Given the description of an element on the screen output the (x, y) to click on. 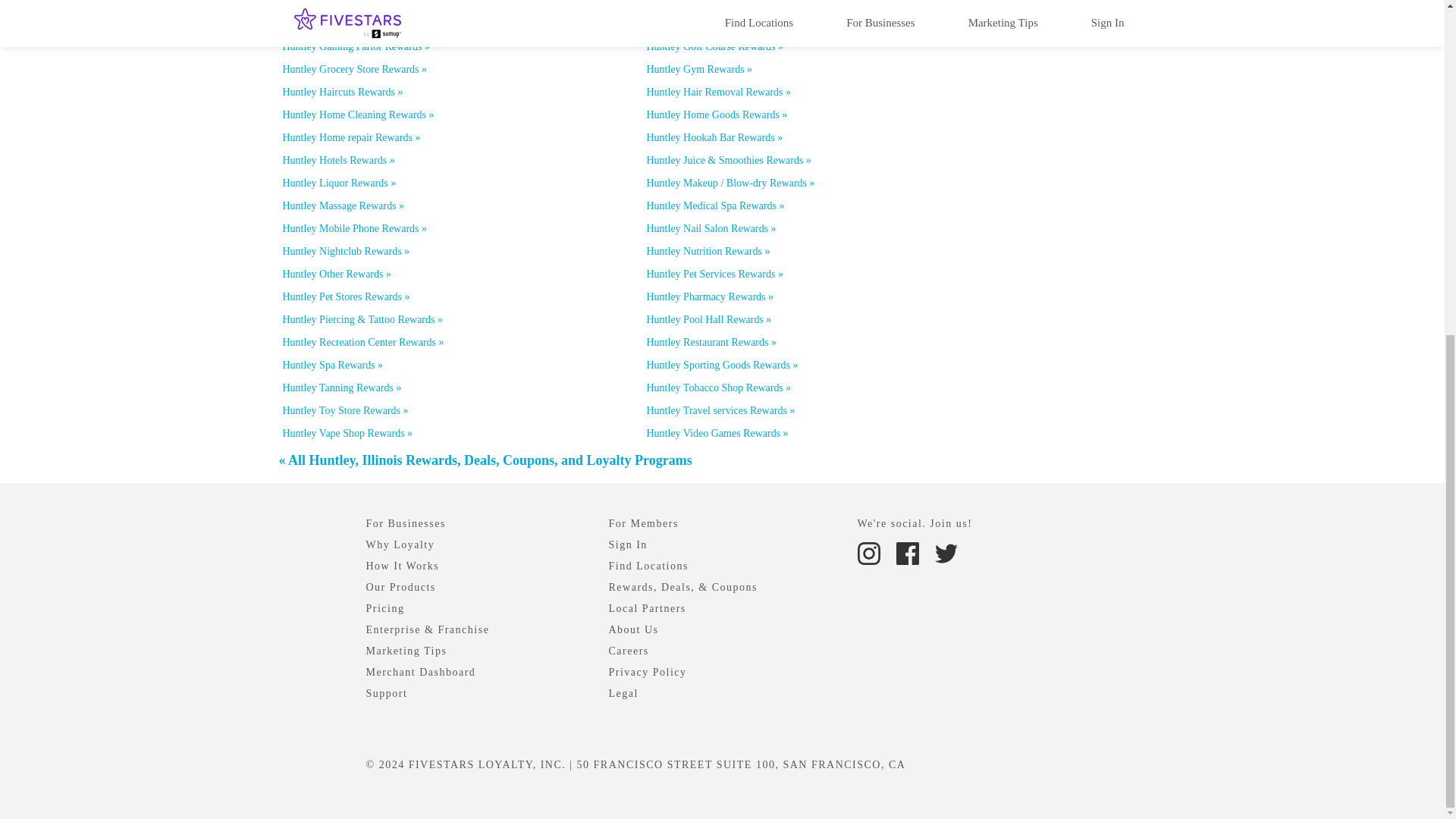
Merchant Dashboard and Analytics (420, 672)
Fivestars Facebook (908, 552)
Support and Customer Service (386, 693)
Fivestars Facebook (907, 553)
Fivestars Twitter (945, 552)
Fivestars Twitter (945, 553)
Fivestars Instagram (868, 553)
Find Locations (647, 565)
Marketing Tips and Blog (405, 650)
Fivestars Instagram (869, 552)
